Given the description of an element on the screen output the (x, y) to click on. 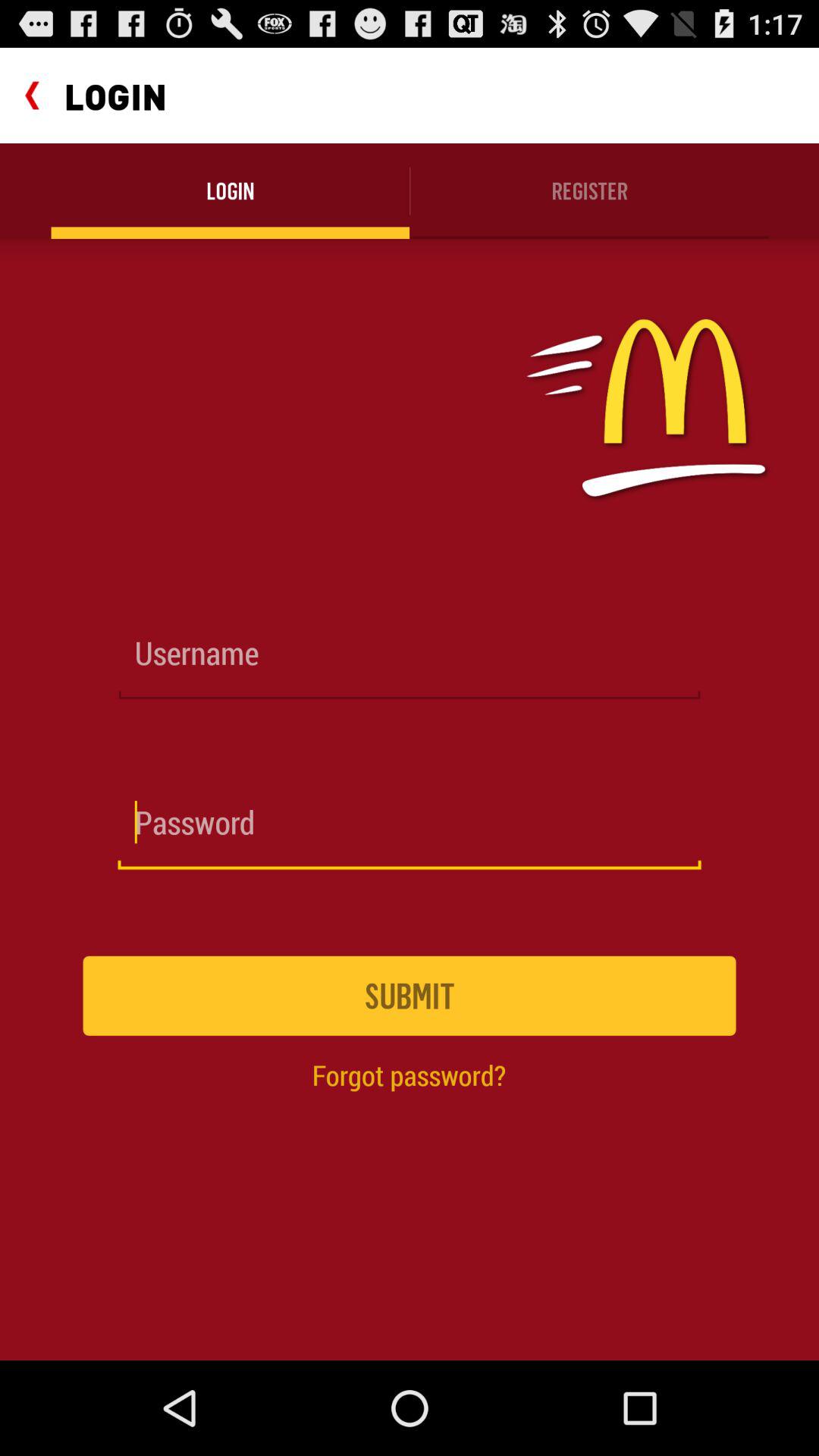
turn off submit (409, 995)
